Given the description of an element on the screen output the (x, y) to click on. 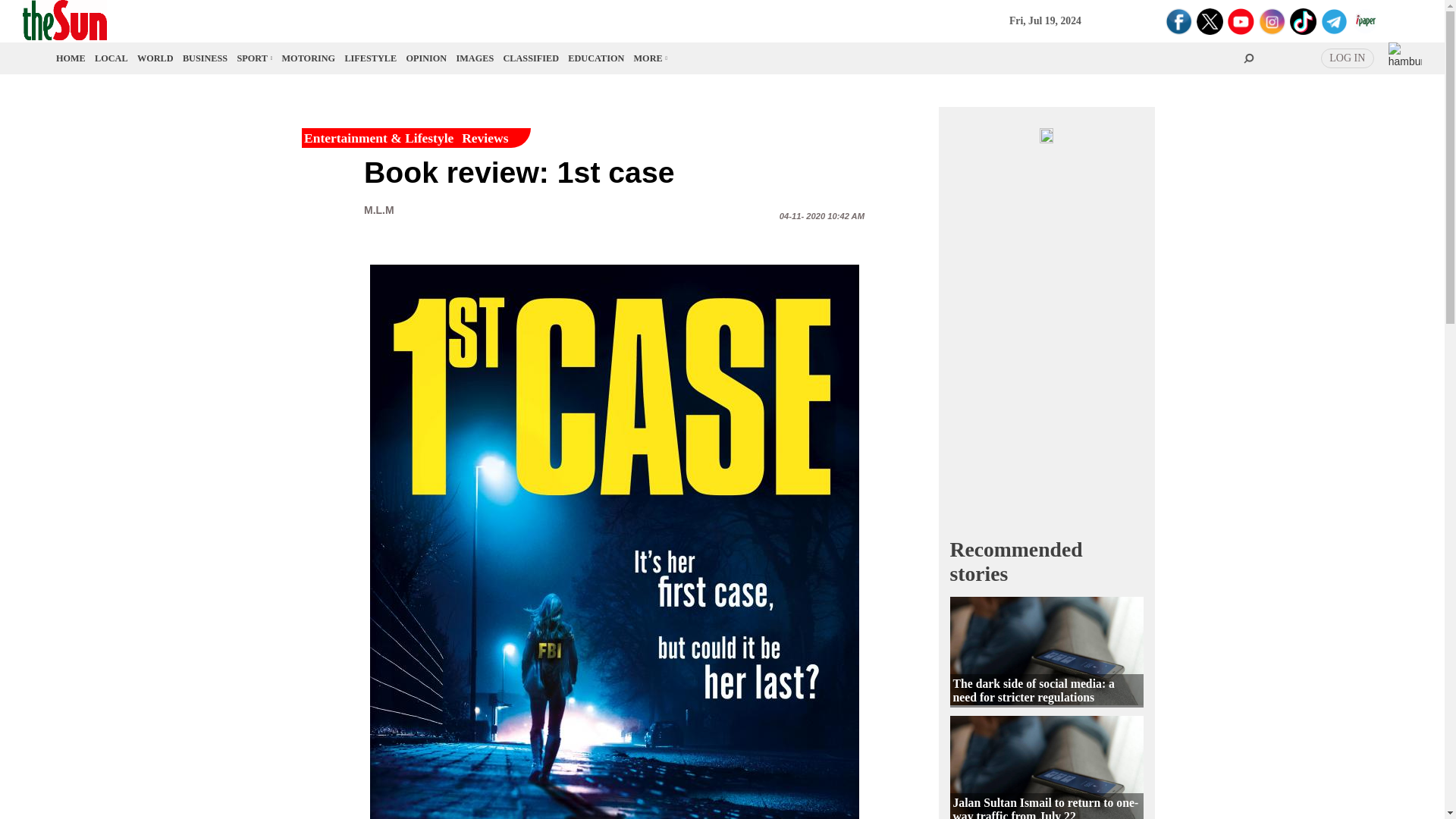
IMAGES (476, 57)
EDUCATION (595, 57)
CLASSIFIED (531, 57)
Local (111, 57)
Home (70, 57)
MOTORING (309, 57)
WORLD (154, 57)
OPINION (426, 57)
LOCAL (111, 57)
HOME (70, 57)
LOG IN (1347, 57)
BUSINESS (205, 57)
LIFESTYLE (369, 57)
MORE (649, 57)
SPORT (252, 57)
